Given the description of an element on the screen output the (x, y) to click on. 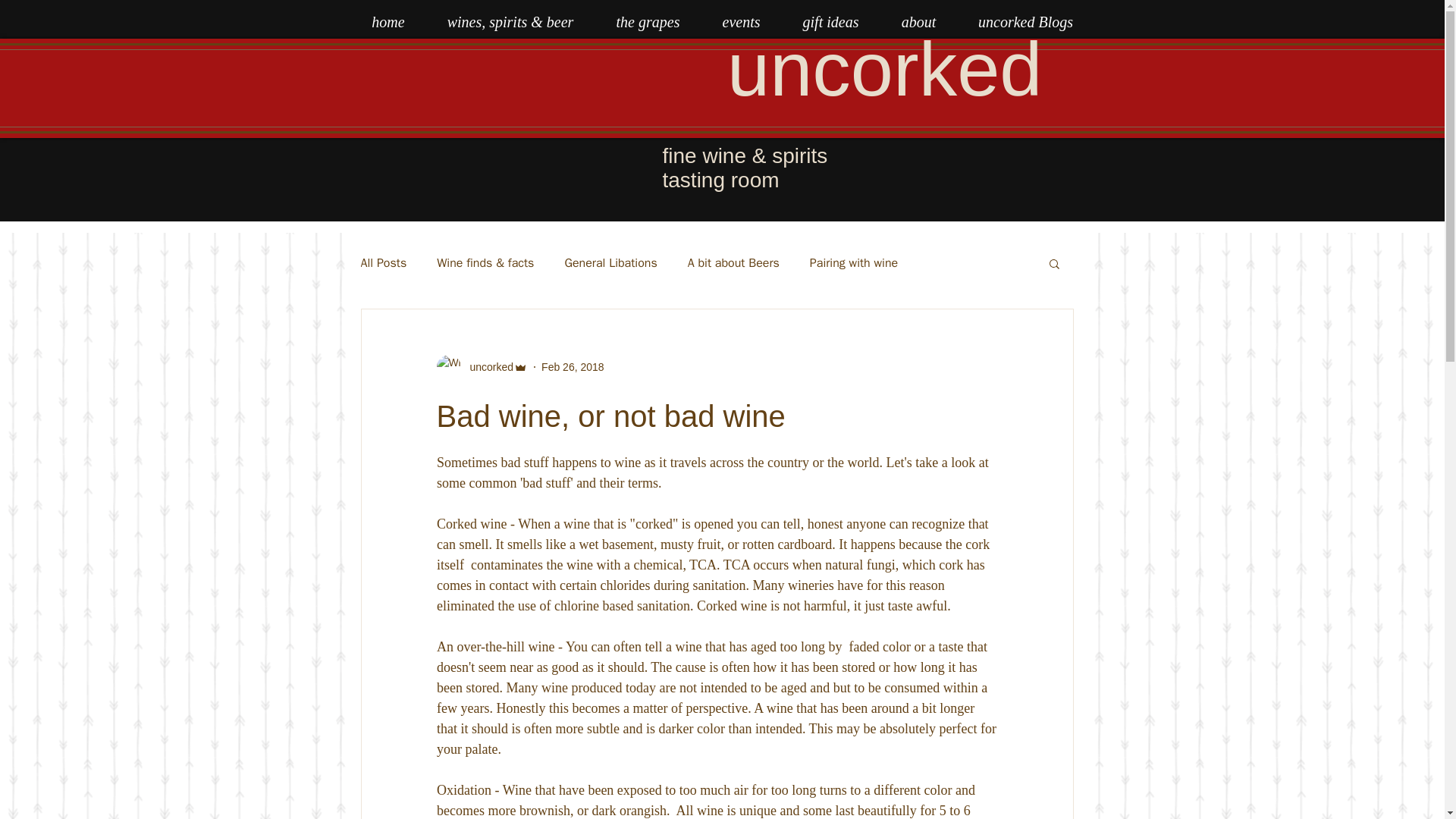
uncorked Blogs (1024, 22)
Pairing with wine (853, 262)
All Posts (384, 262)
Feb 26, 2018 (572, 367)
General Libations (610, 262)
A bit about Beers (732, 262)
about (917, 22)
events (740, 22)
uncorked (487, 367)
home (387, 22)
